Given the description of an element on the screen output the (x, y) to click on. 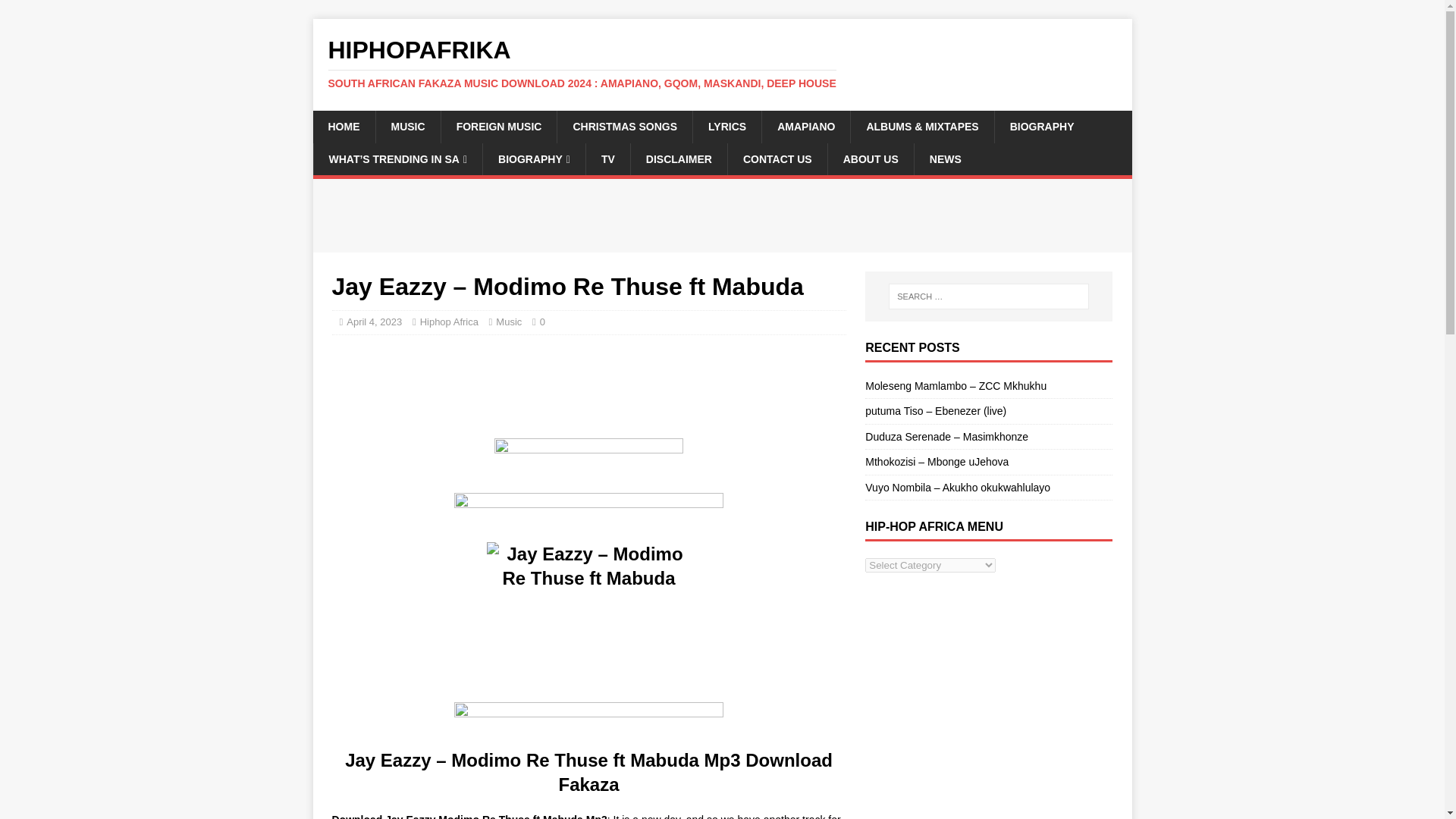
AMAPIANO (805, 126)
Music (508, 321)
HiphopAfrika (721, 63)
BIOGRAPHY (1041, 126)
ABOUT US (870, 159)
CHRISTMAS SONGS (624, 126)
CONTACT US (776, 159)
FOREIGN MUSIC (499, 126)
BIOGRAPHY (533, 159)
MUSIC (406, 126)
NEWS (945, 159)
DISCLAIMER (678, 159)
LYRICS (727, 126)
TV (607, 159)
